Given the description of an element on the screen output the (x, y) to click on. 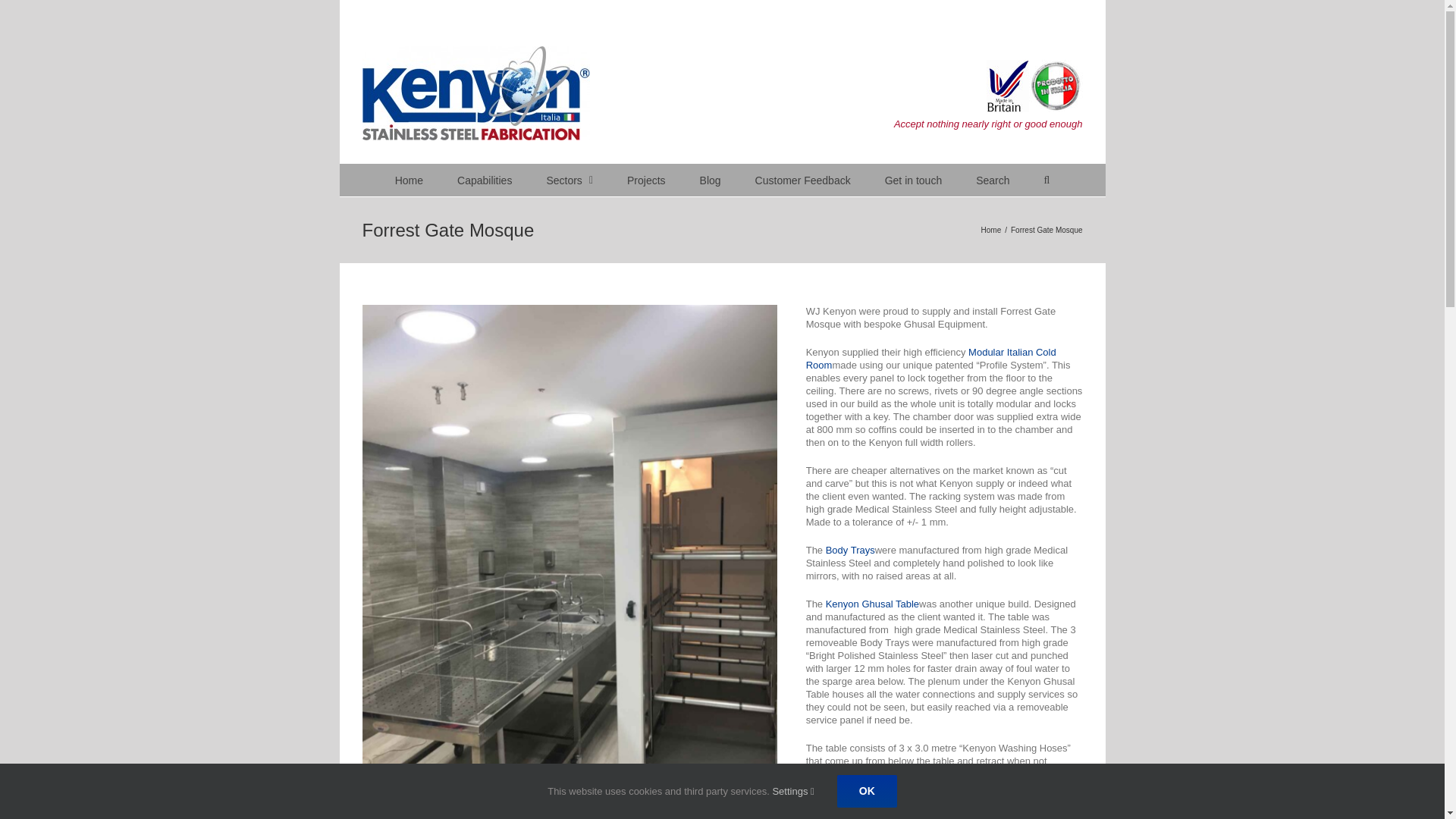
Sectors (569, 179)
Search (992, 179)
Home (991, 230)
Customer Feedback (802, 179)
Capabilities (484, 179)
Get in touch (913, 179)
Projects (646, 179)
